Given the description of an element on the screen output the (x, y) to click on. 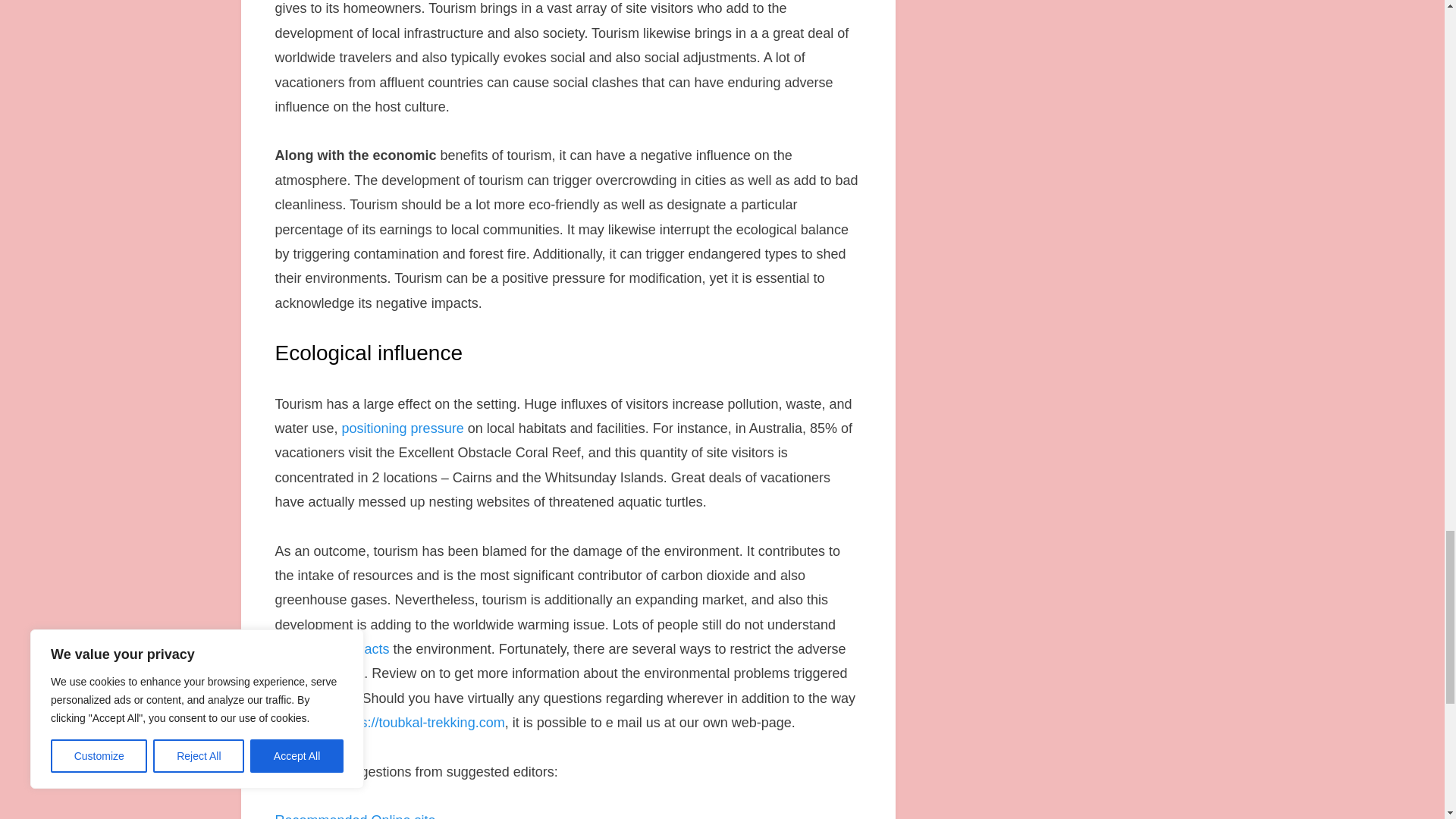
Recommended Online site (355, 816)
tourist impacts (345, 648)
positioning pressure (403, 427)
